Given the description of an element on the screen output the (x, y) to click on. 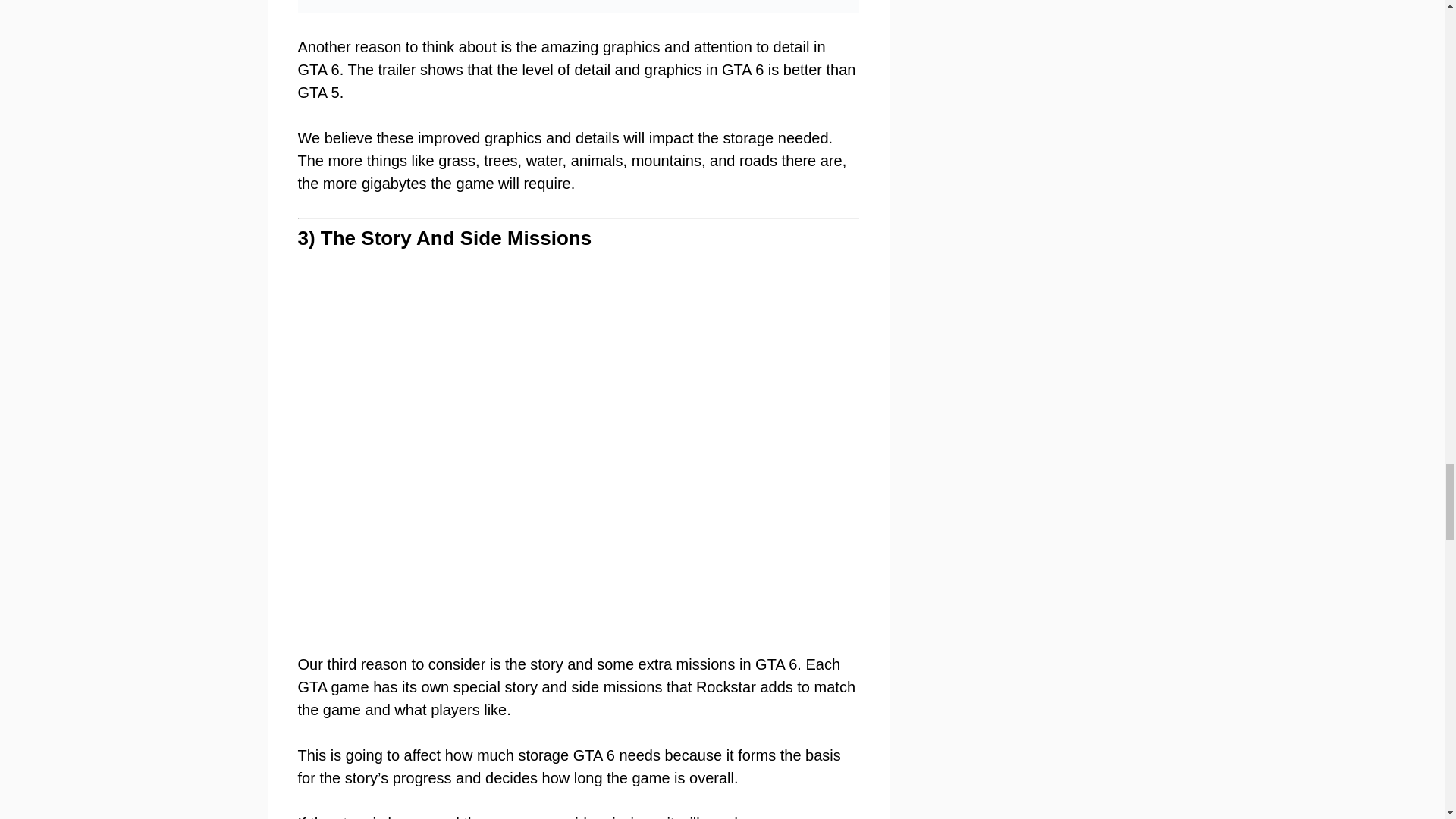
GTA 6 File Size: How Much Storage Does Gta 6 Need? (578, 6)
